Given the description of an element on the screen output the (x, y) to click on. 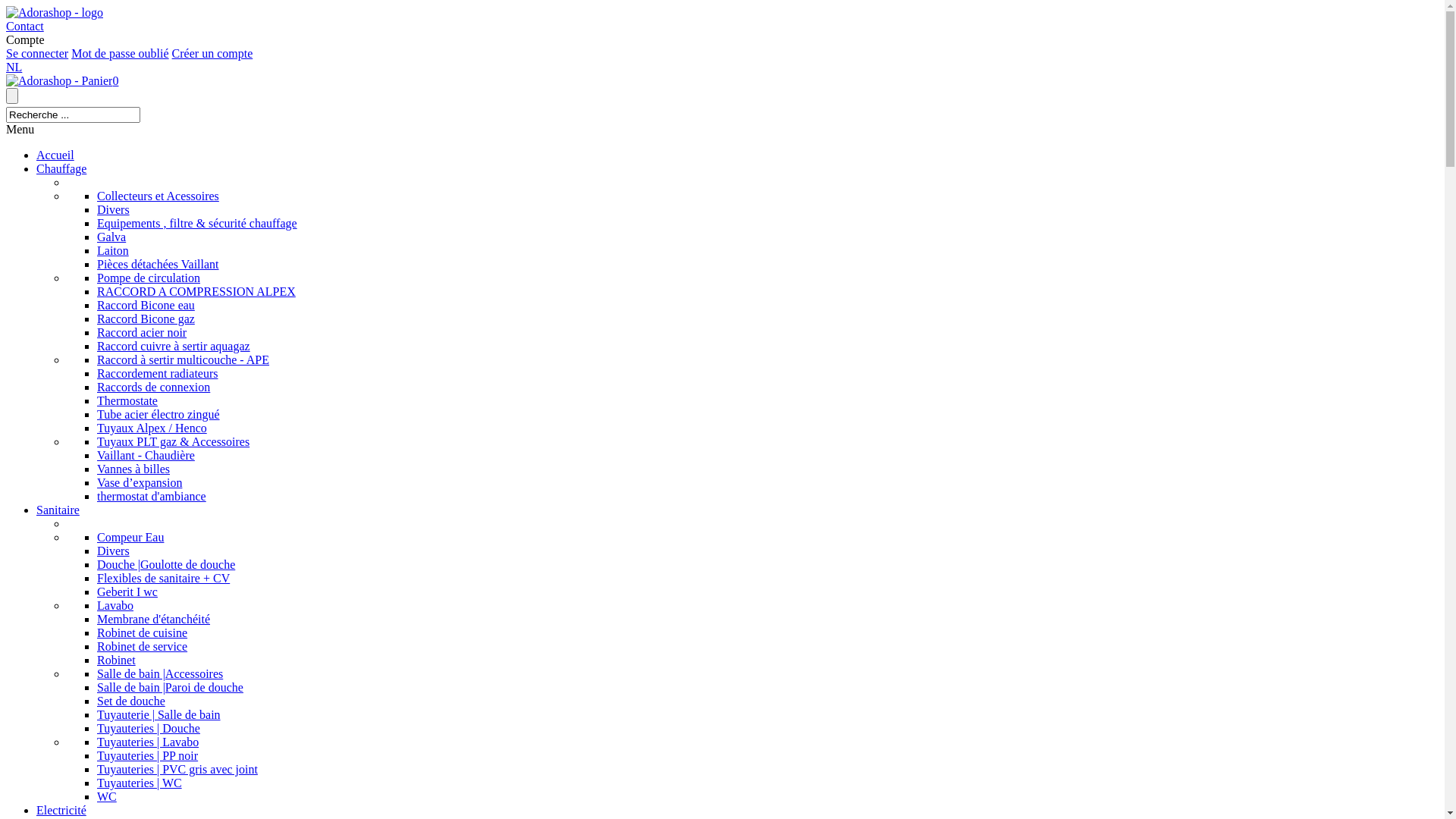
Tuyaux Alpex / Henco Element type: text (152, 427)
Sanitaire Element type: text (57, 509)
Divers Element type: text (113, 209)
Compeur Eau Element type: text (130, 536)
Robinet de service Element type: text (142, 646)
Robinet de cuisine Element type: text (142, 632)
0 Element type: text (62, 80)
Raccordement radiateurs Element type: text (157, 373)
Salle de bain |Accessoires Element type: text (159, 673)
Flexibles de sanitaire + CV Element type: text (163, 577)
Tuyauteries | WC Element type: text (139, 782)
Se connecter Element type: text (37, 53)
Geberit I wc Element type: text (127, 591)
WC Element type: text (106, 796)
Laiton Element type: text (112, 250)
Tuyauteries | Douche Element type: text (148, 727)
Douche |Goulotte de douche Element type: text (166, 564)
Chauffage Element type: text (61, 168)
thermostat d'ambiance Element type: text (151, 495)
Contact Element type: text (24, 25)
RACCORD A COMPRESSION ALPEX Element type: text (196, 291)
Tuyauteries | PP noir Element type: text (147, 755)
Raccords de connexion Element type: text (153, 386)
Set de douche Element type: text (131, 700)
Thermostate Element type: text (127, 400)
Raccord Bicone gaz Element type: text (145, 318)
Salle de bain |Paroi de douche Element type: text (170, 686)
Tuyaux PLT gaz & Accessoires Element type: text (173, 441)
Raccord acier noir Element type: text (141, 332)
Raccord Bicone eau Element type: text (145, 304)
NL Element type: text (13, 66)
Tuyauteries | Lavabo Element type: text (147, 741)
Accueil Element type: text (55, 154)
Divers Element type: text (113, 550)
Galva Element type: text (111, 236)
Tuyauteries | PVC gris avec joint Element type: text (177, 768)
Pompe de circulation Element type: text (148, 277)
Tuyauterie | Salle de bain Element type: text (158, 714)
Collecteurs et Acessoires Element type: text (158, 195)
Lavabo Element type: text (115, 605)
Robinet Element type: text (116, 659)
